Given the description of an element on the screen output the (x, y) to click on. 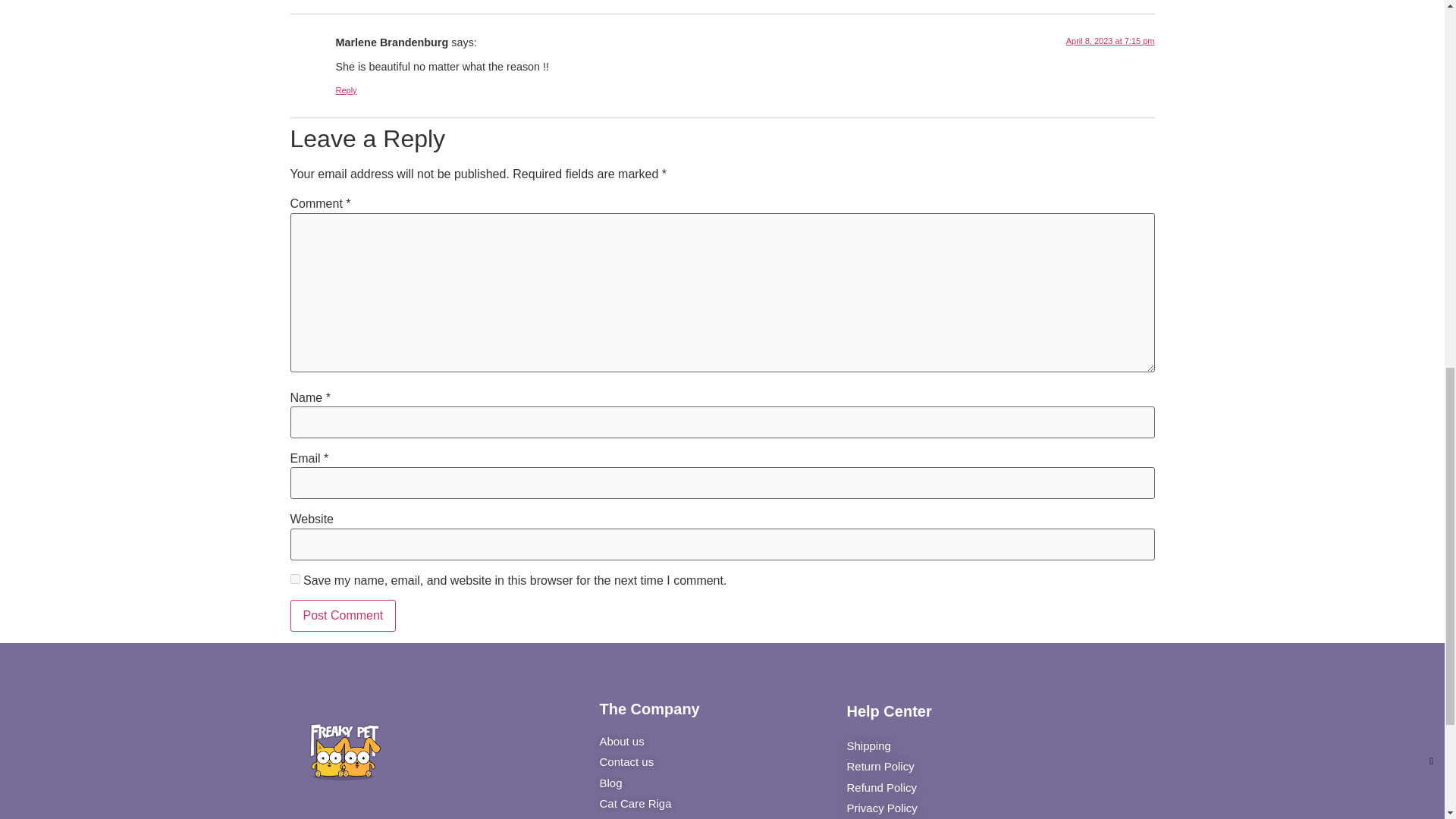
Post Comment (342, 615)
yes (294, 578)
